Given the description of an element on the screen output the (x, y) to click on. 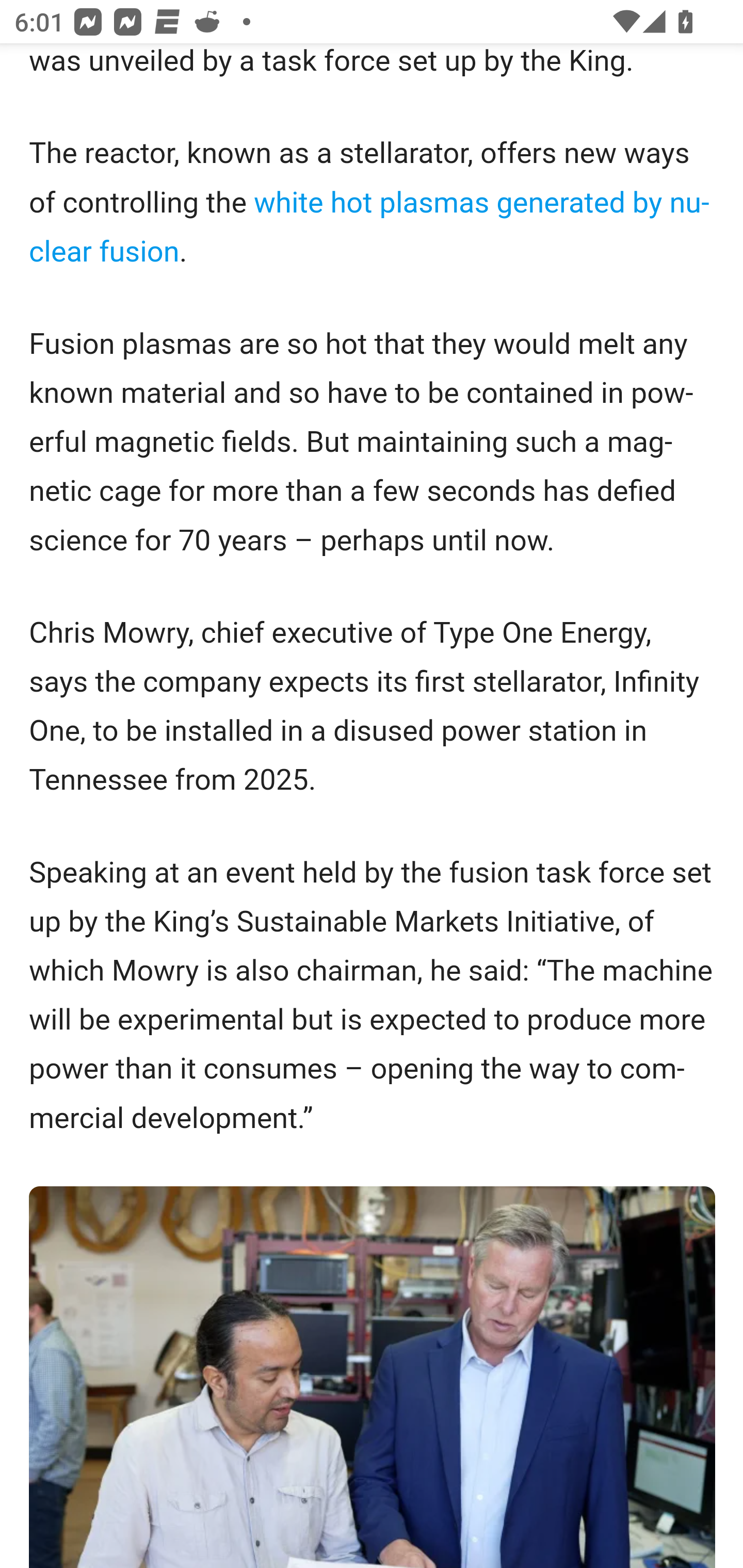
white hot plasmas generated by nuclear fusion (368, 227)
